Given the description of an element on the screen output the (x, y) to click on. 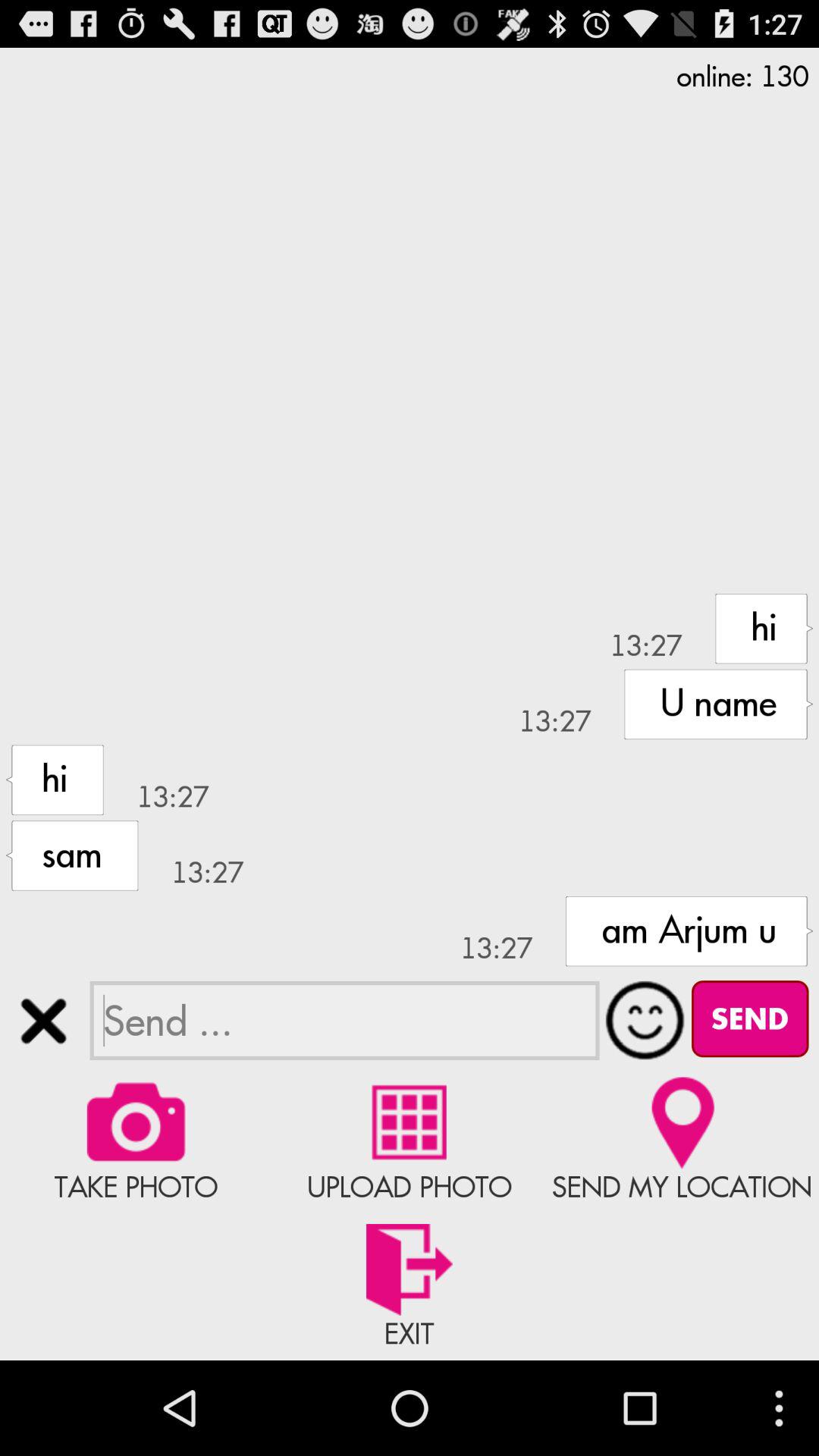
add smileys switch option (645, 1020)
